Given the description of an element on the screen output the (x, y) to click on. 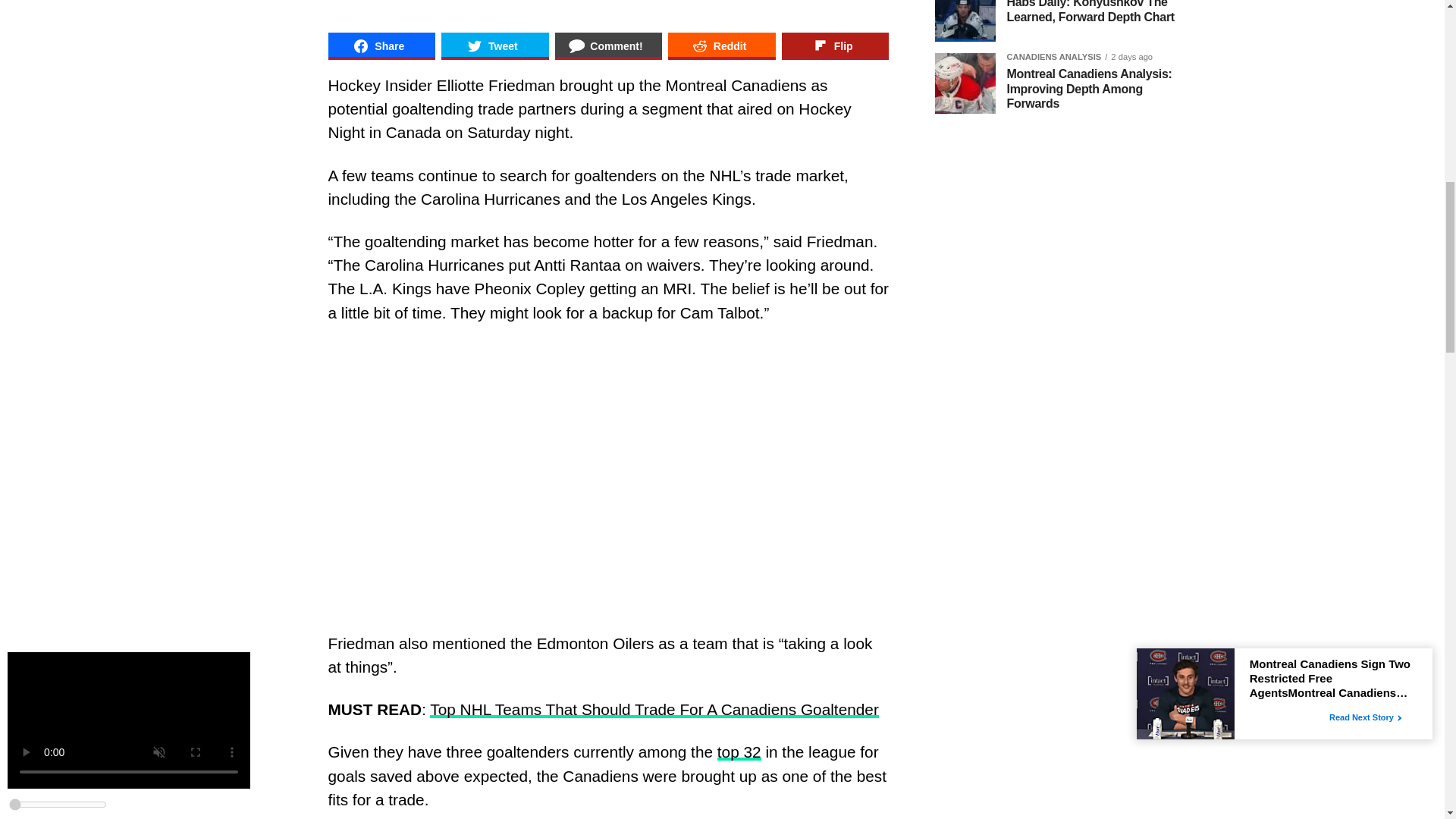
Share on Comment! (608, 45)
Share on Flip (835, 45)
Share on Share (381, 45)
Share on Tweet (494, 45)
Share on Reddit (722, 45)
